Given the description of an element on the screen output the (x, y) to click on. 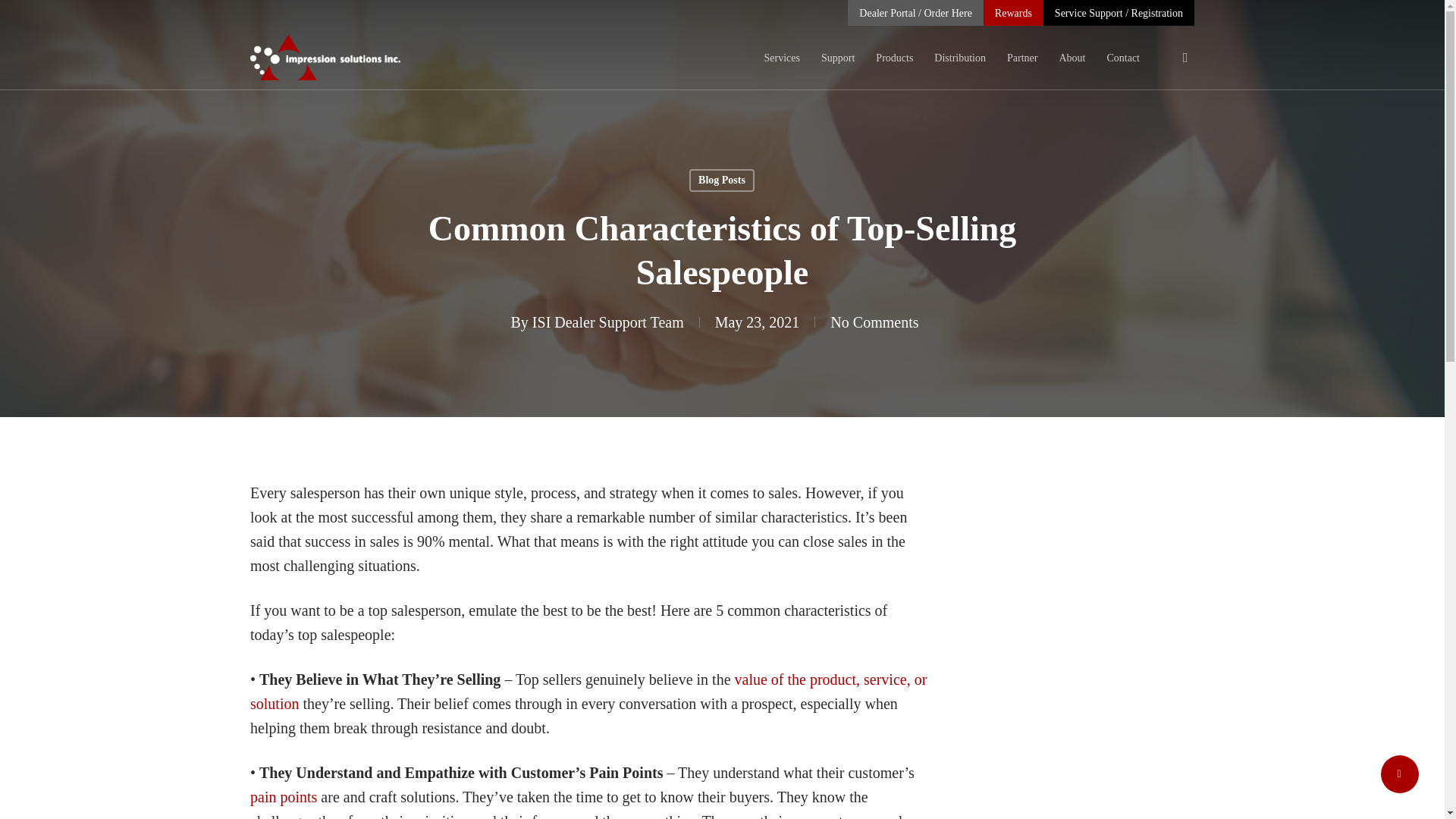
Posts by ISI Dealer Support Team (608, 321)
Products (894, 57)
Support (837, 57)
Services (781, 57)
Rewards (1013, 13)
